Given the description of an element on the screen output the (x, y) to click on. 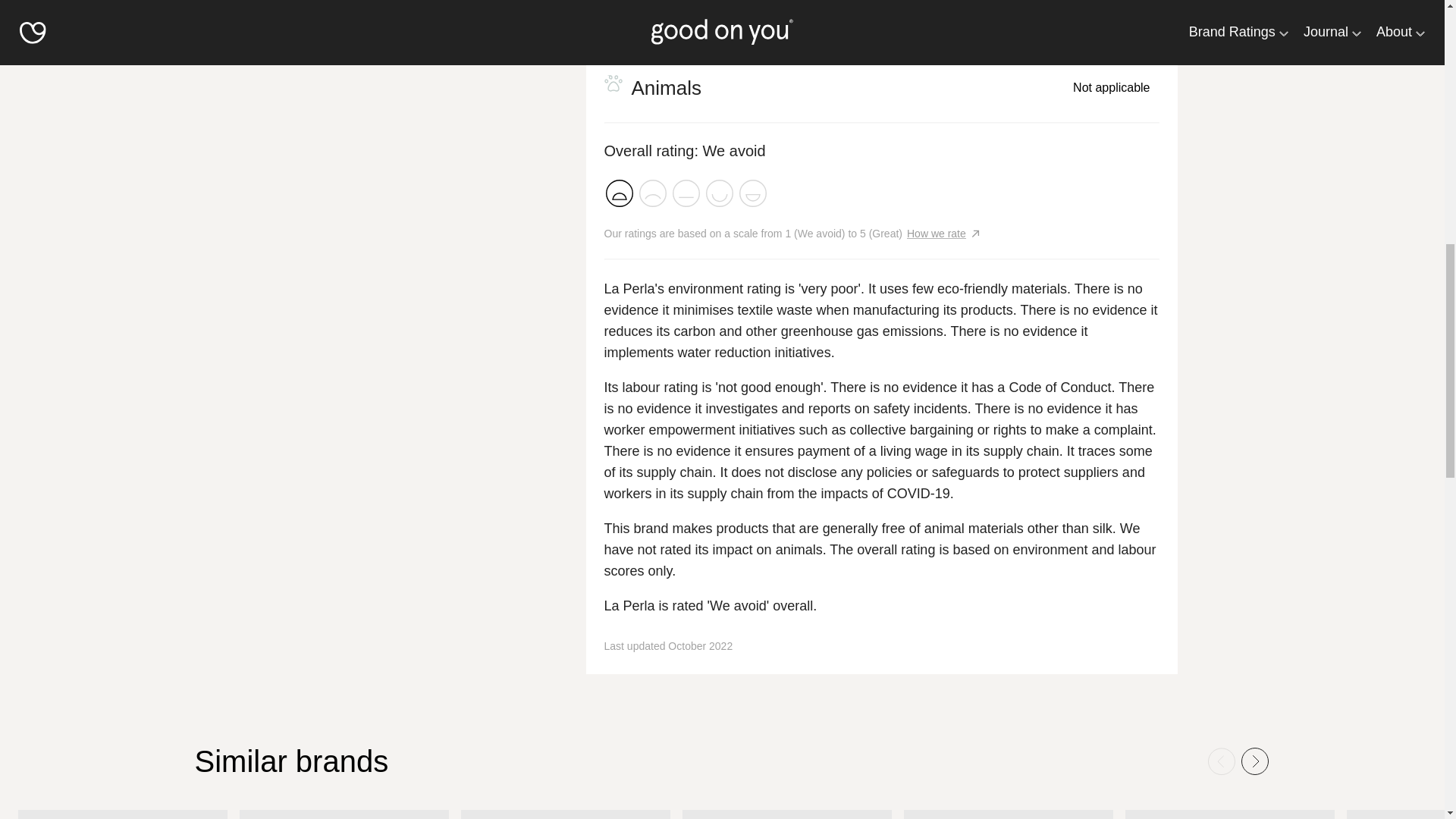
How we rate (936, 233)
